Given the description of an element on the screen output the (x, y) to click on. 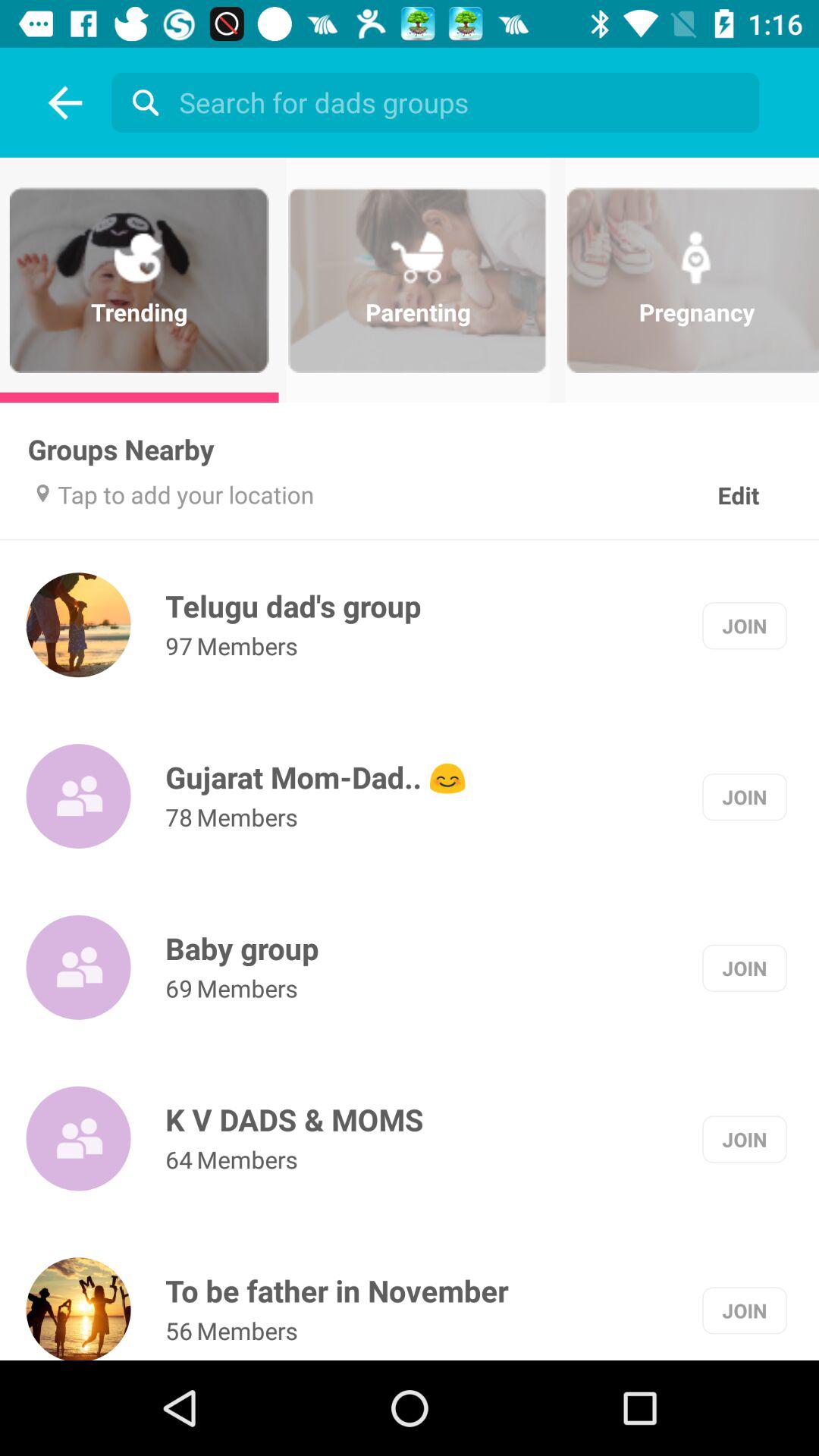
press the to be father item (336, 1290)
